Given the description of an element on the screen output the (x, y) to click on. 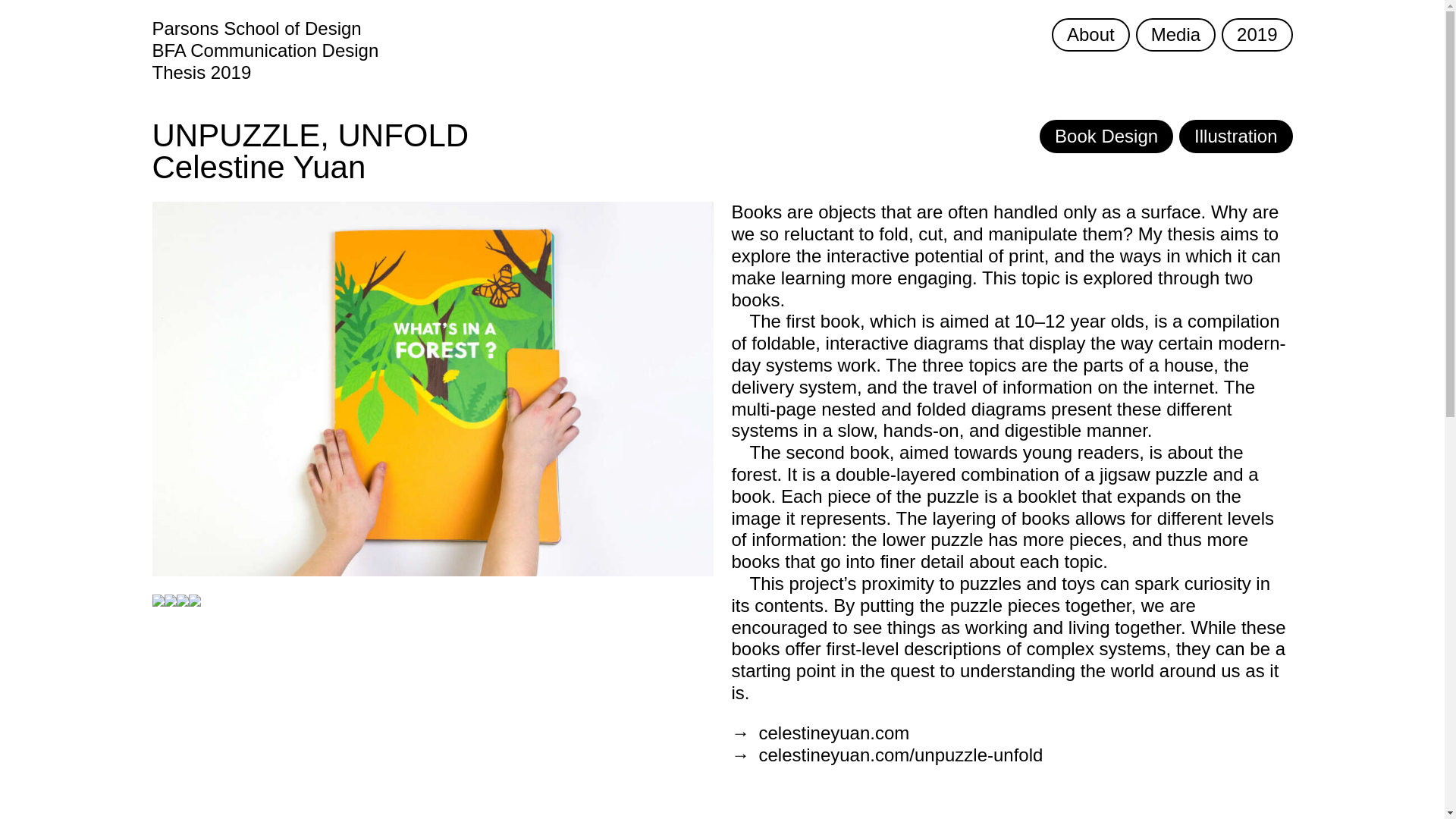
Media (1175, 34)
Illustration (1235, 136)
Book Design (1106, 136)
About (1090, 34)
2019 (1256, 34)
